Given the description of an element on the screen output the (x, y) to click on. 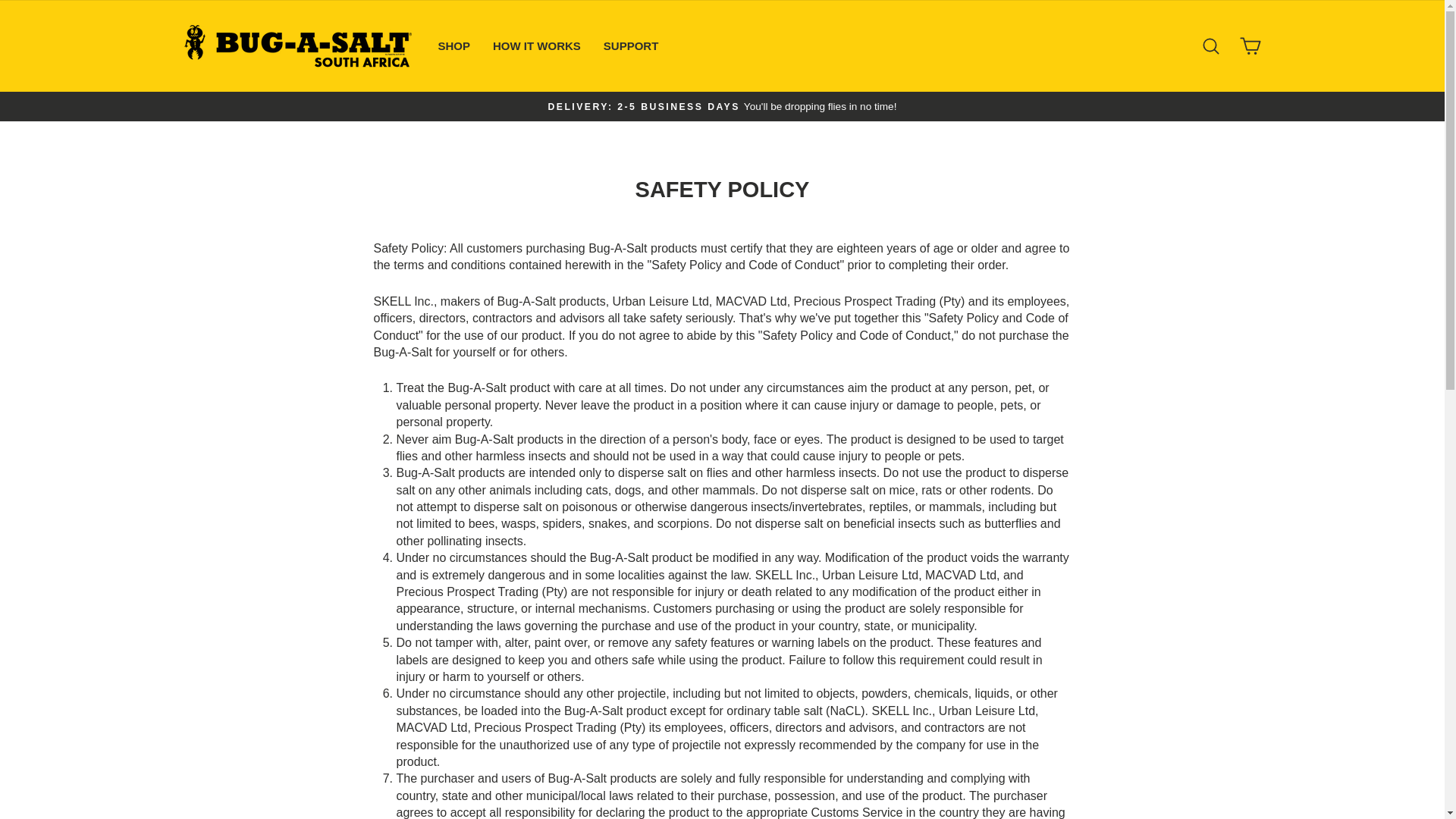
SHOP (453, 46)
HOW IT WORKS (536, 46)
SUPPORT (630, 46)
CART (1249, 46)
SEARCH (1210, 46)
